Given the description of an element on the screen output the (x, y) to click on. 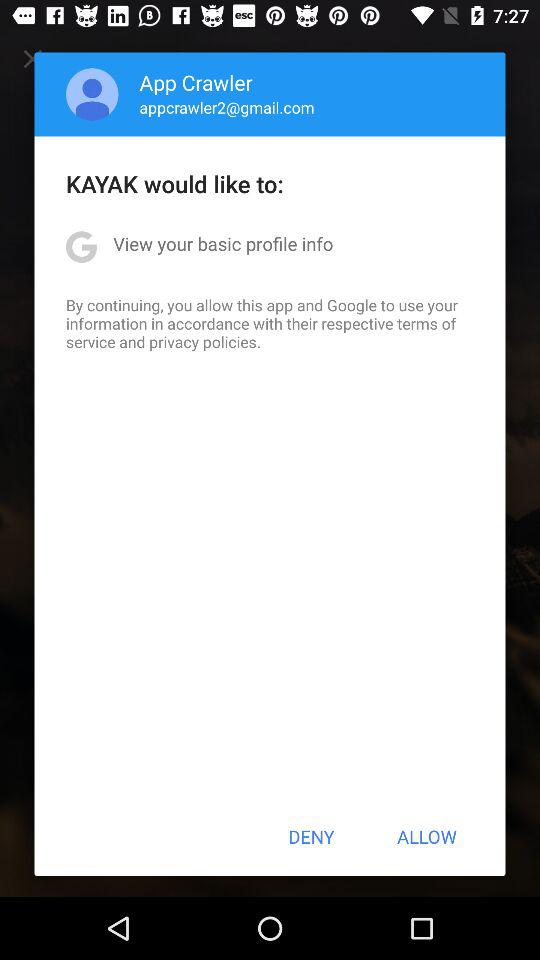
scroll to app crawler icon (195, 82)
